Given the description of an element on the screen output the (x, y) to click on. 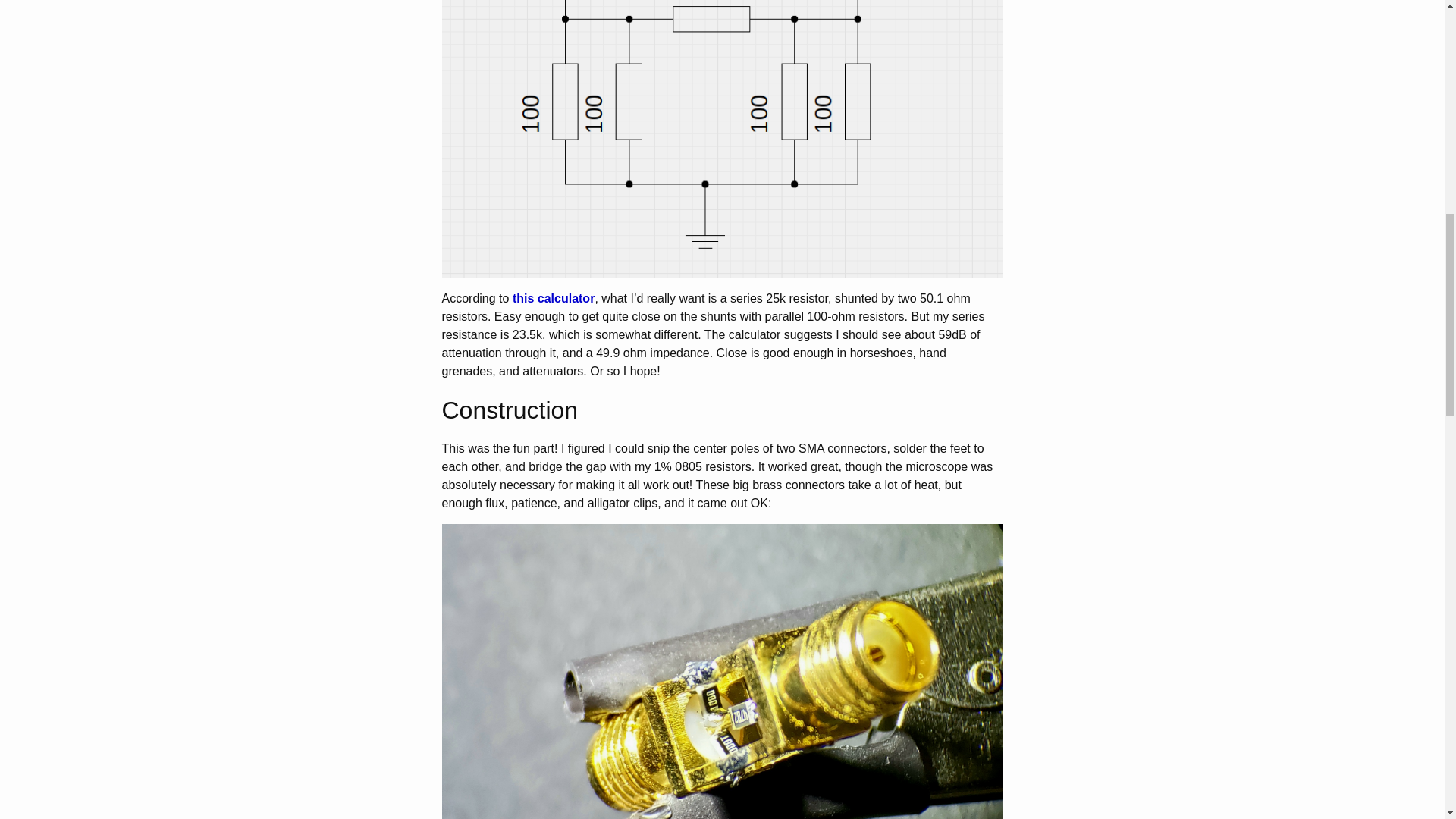
this calculator (553, 297)
